Given the description of an element on the screen output the (x, y) to click on. 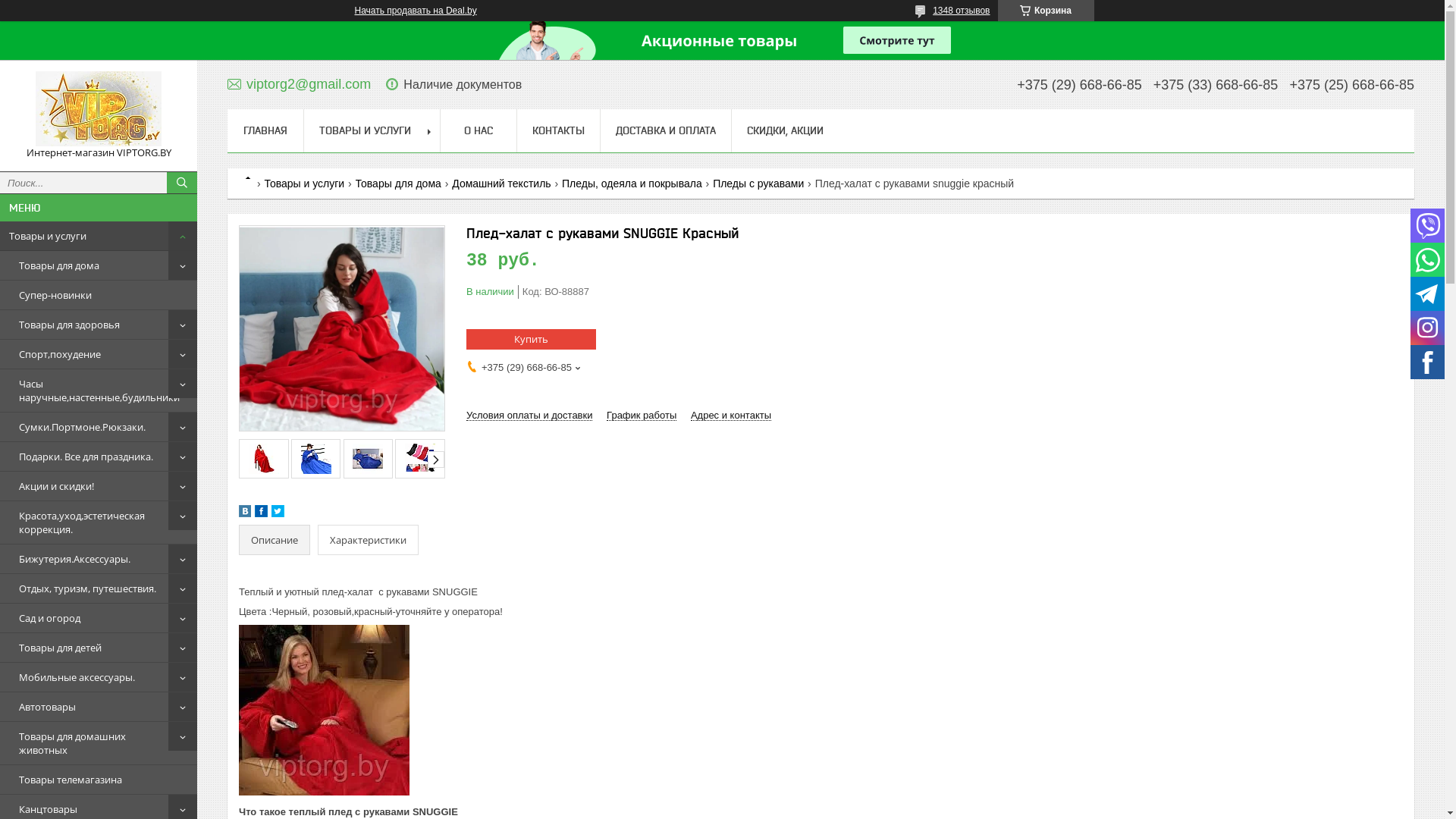
twitter Element type: hover (277, 513)
facebook Element type: hover (260, 513)
viptorg2@gmail.com Element type: text (298, 83)
